Given the description of an element on the screen output the (x, y) to click on. 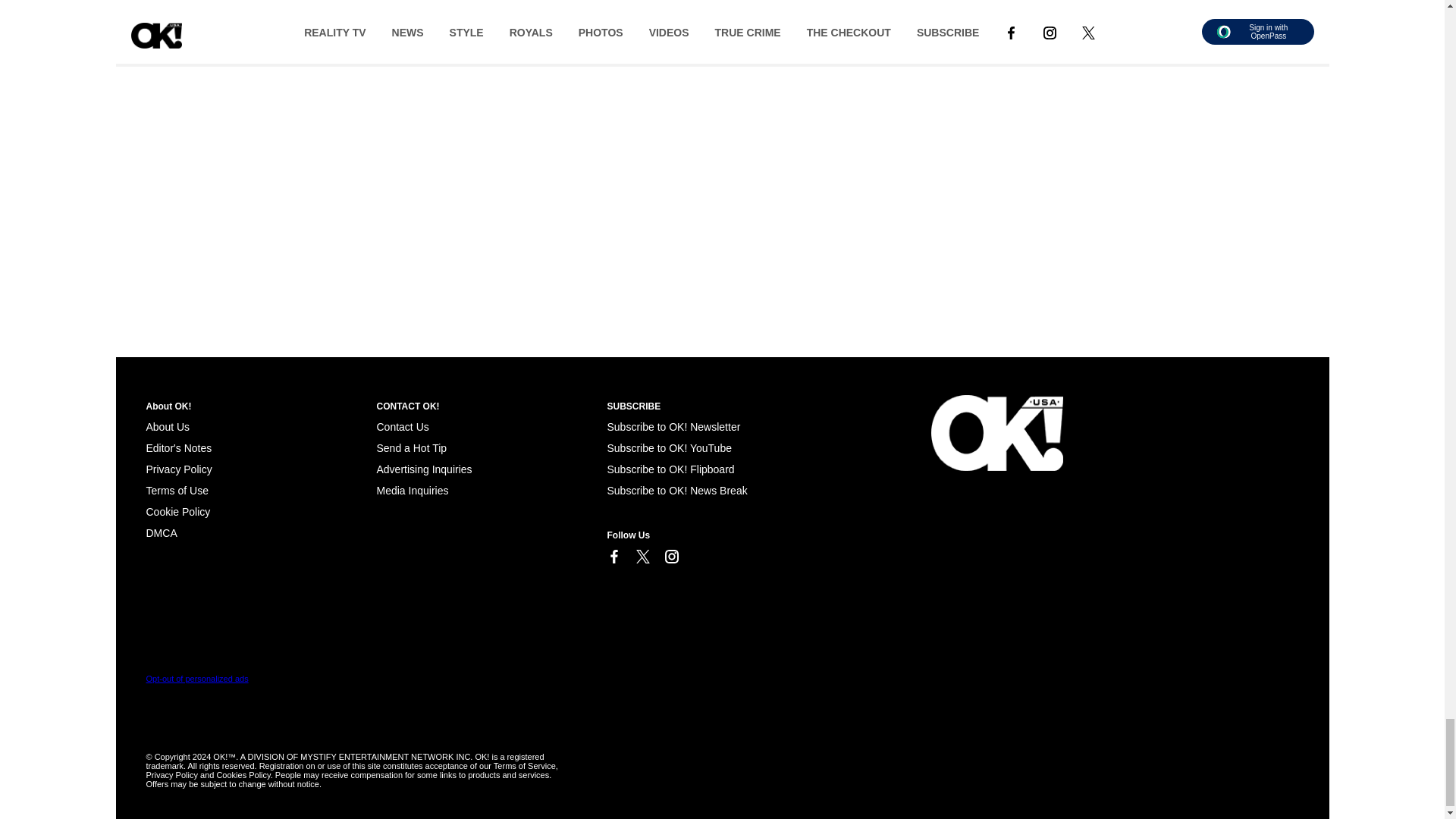
Link to Instagram (670, 556)
Link to X (641, 556)
Terms of Use (176, 490)
Link to Facebook (613, 556)
About Us (167, 426)
Cookie Policy (177, 511)
Privacy Policy (178, 469)
Cookie Policy (160, 532)
Editor's Notes (178, 448)
